Given the description of an element on the screen output the (x, y) to click on. 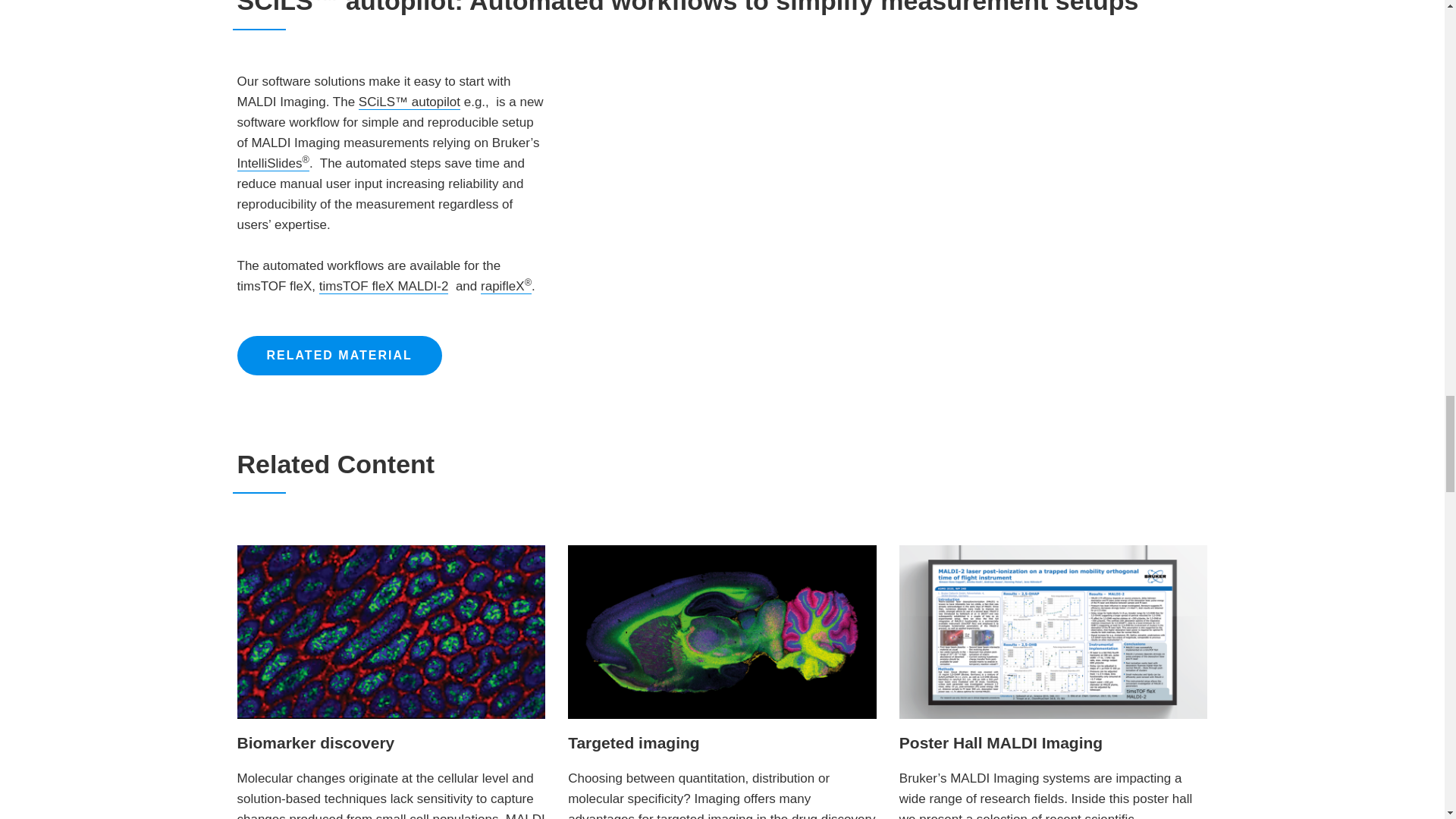
timsTOF fleX MALDI-2 (383, 286)
